Given the description of an element on the screen output the (x, y) to click on. 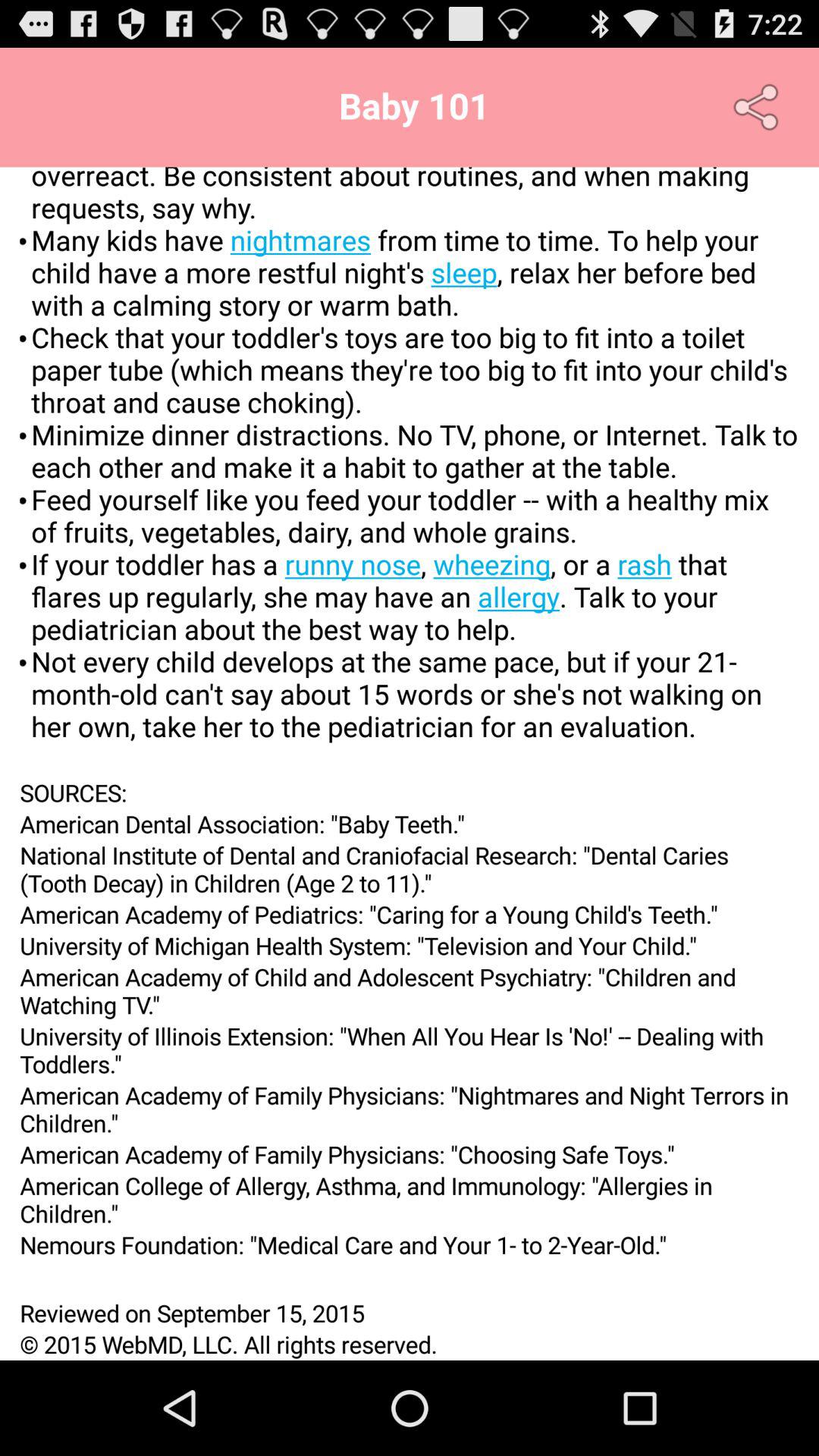
press icon below the nemours foundation medical (409, 1278)
